Given the description of an element on the screen output the (x, y) to click on. 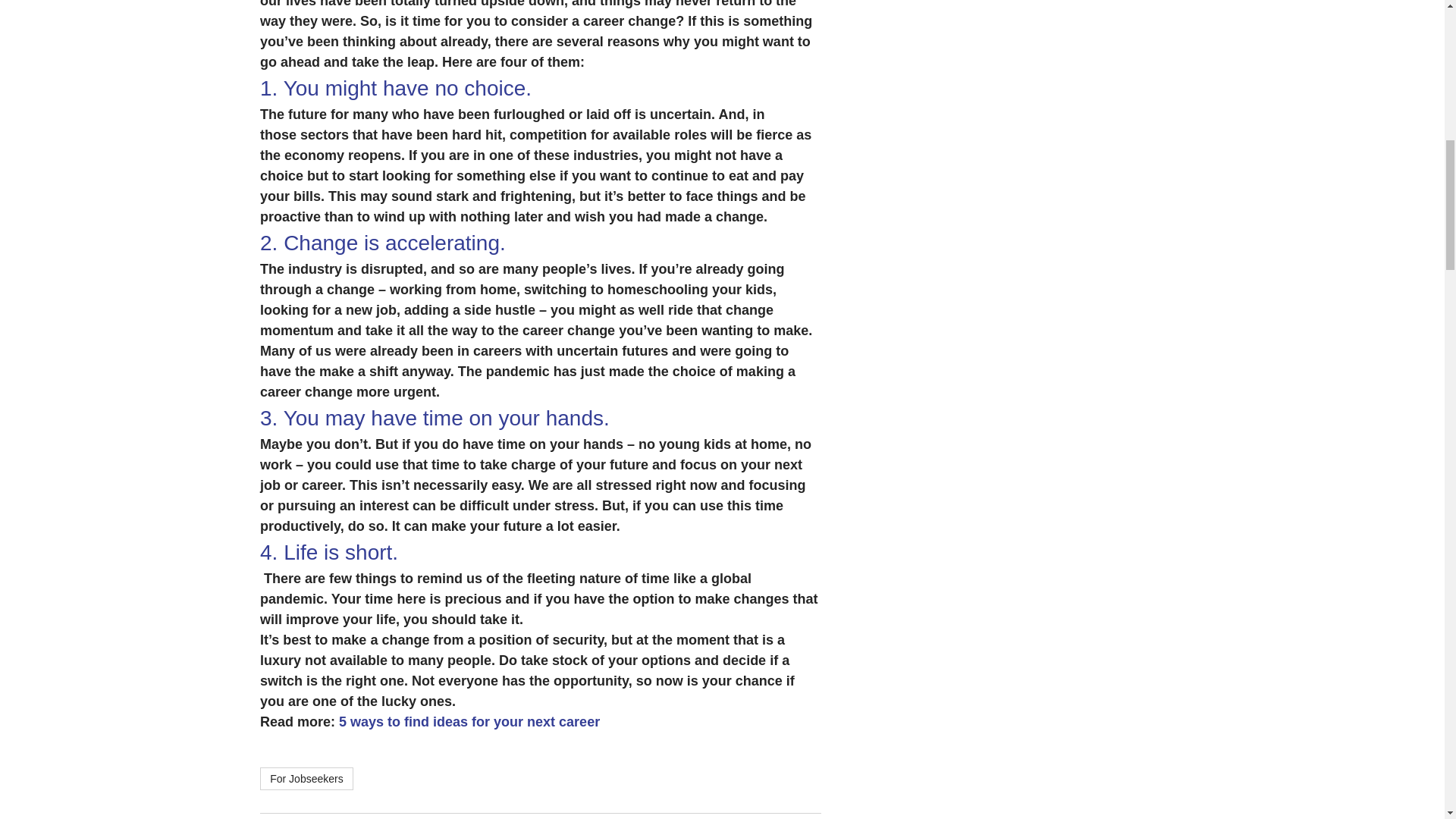
5 ways to find ideas for your next career (469, 721)
For Jobseekers (306, 778)
